Given the description of an element on the screen output the (x, y) to click on. 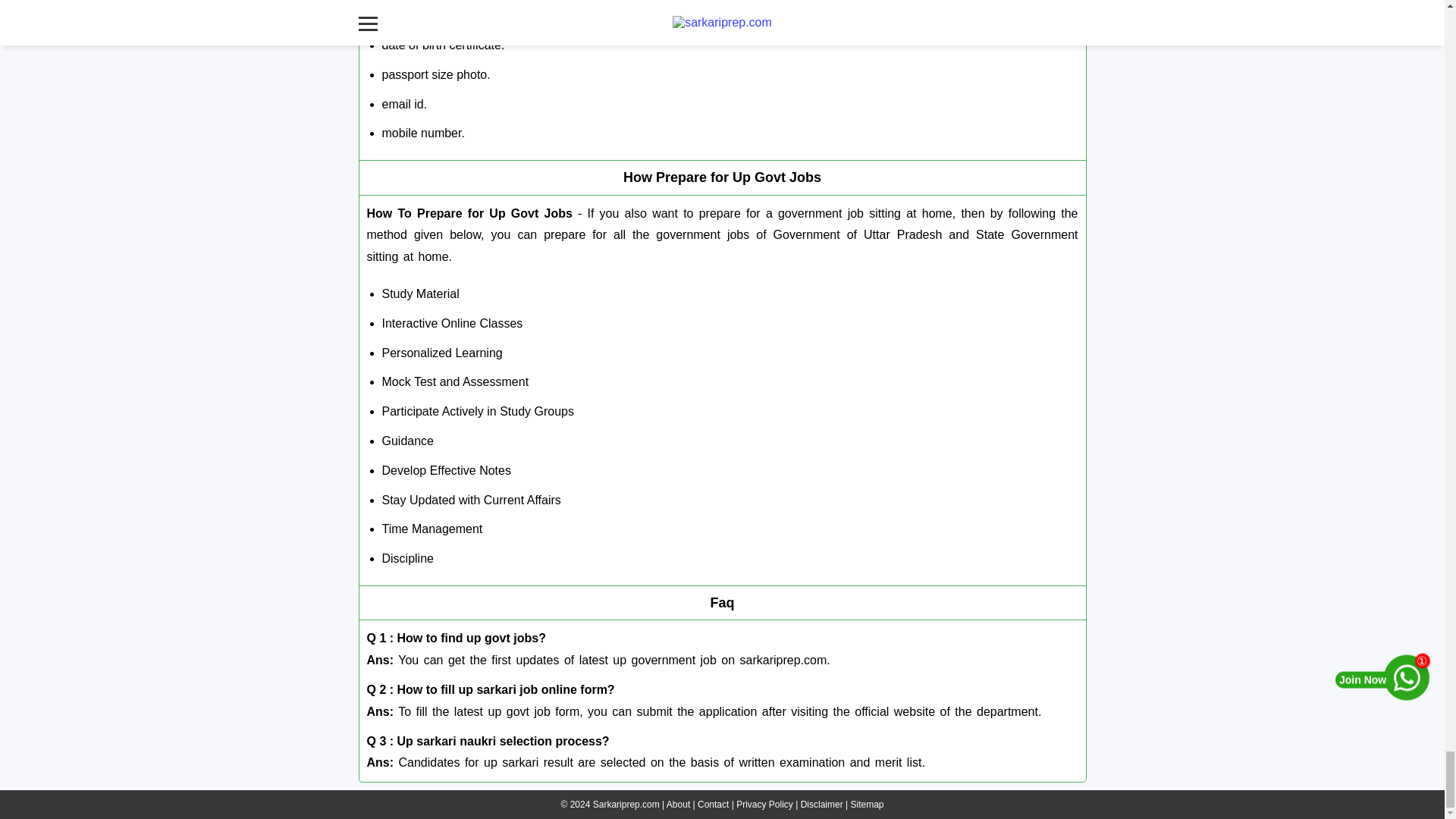
Sitemap (866, 804)
Sarkariprep.com (625, 804)
About (678, 804)
Privacy Policy (764, 804)
Disclaimer (821, 804)
Contact (713, 804)
